Given the description of an element on the screen output the (x, y) to click on. 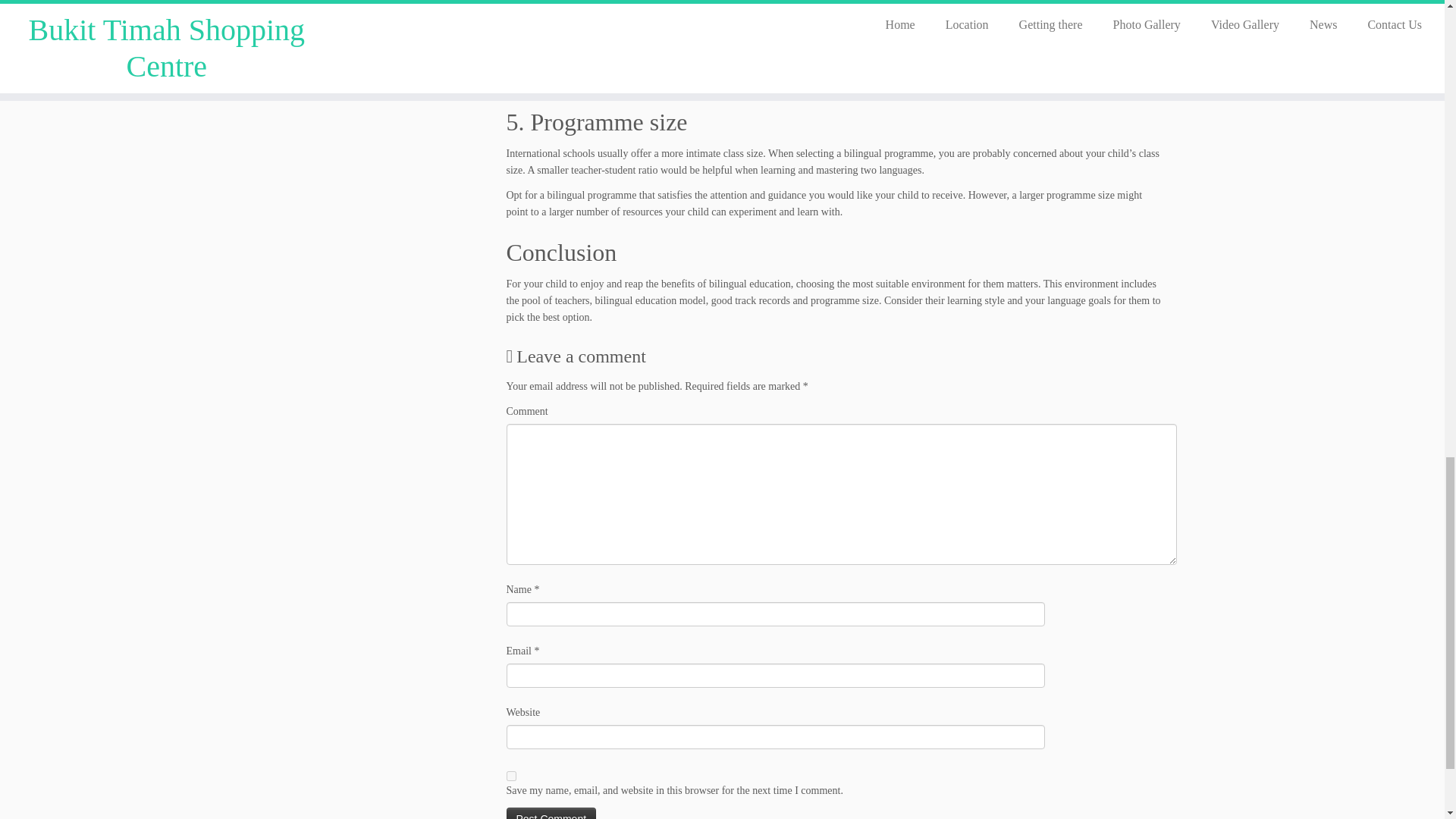
yes (511, 776)
